Given the description of an element on the screen output the (x, y) to click on. 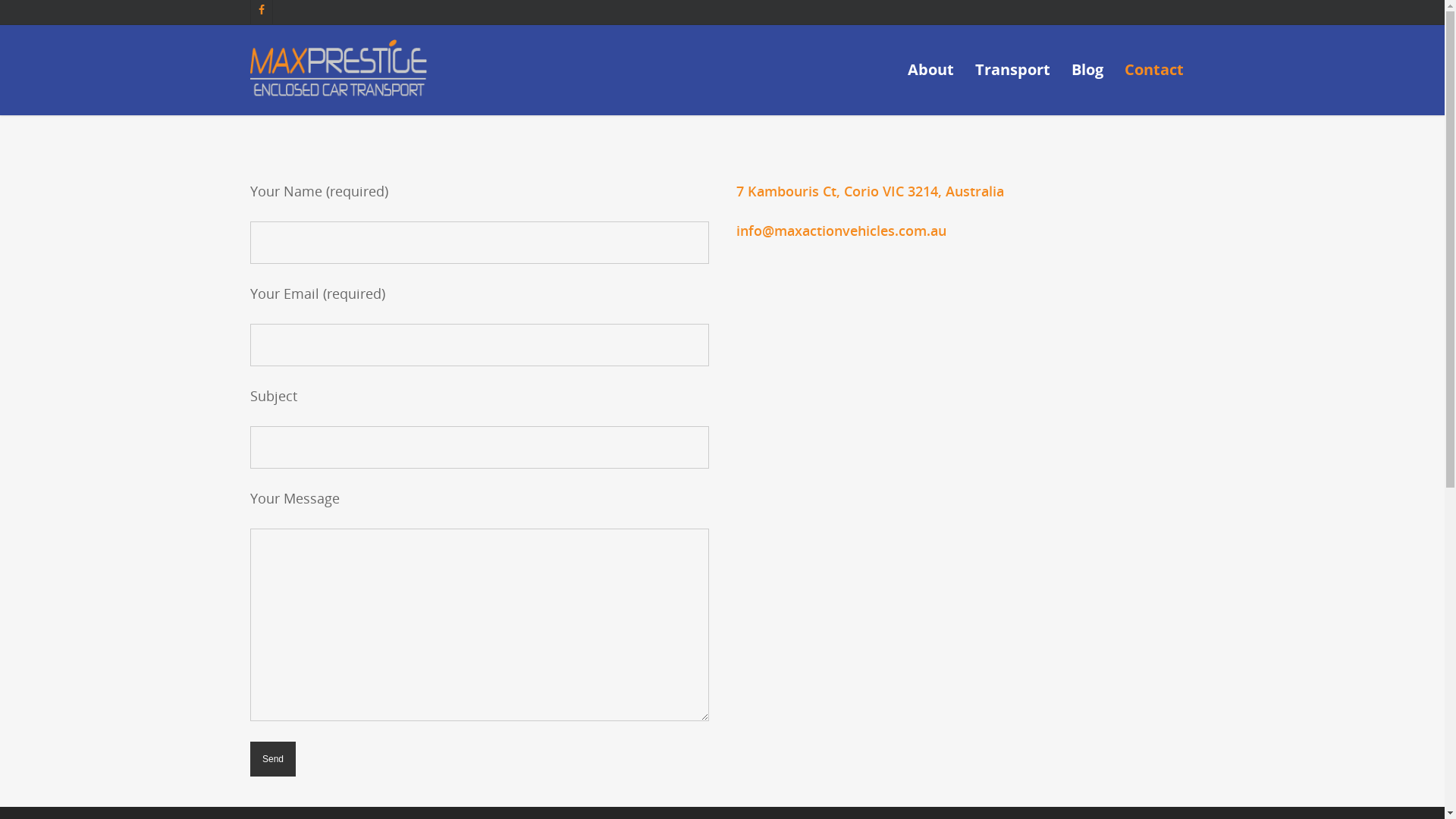
Transport Element type: text (1012, 77)
Contact Element type: text (1153, 77)
Blog Element type: text (1087, 77)
7 Kambouris Ct, Corio VIC 3214, Australia Element type: text (869, 191)
About Element type: text (930, 77)
Send Element type: text (272, 758)
info@maxactionvehicles.com.au Element type: text (840, 230)
